Given the description of an element on the screen output the (x, y) to click on. 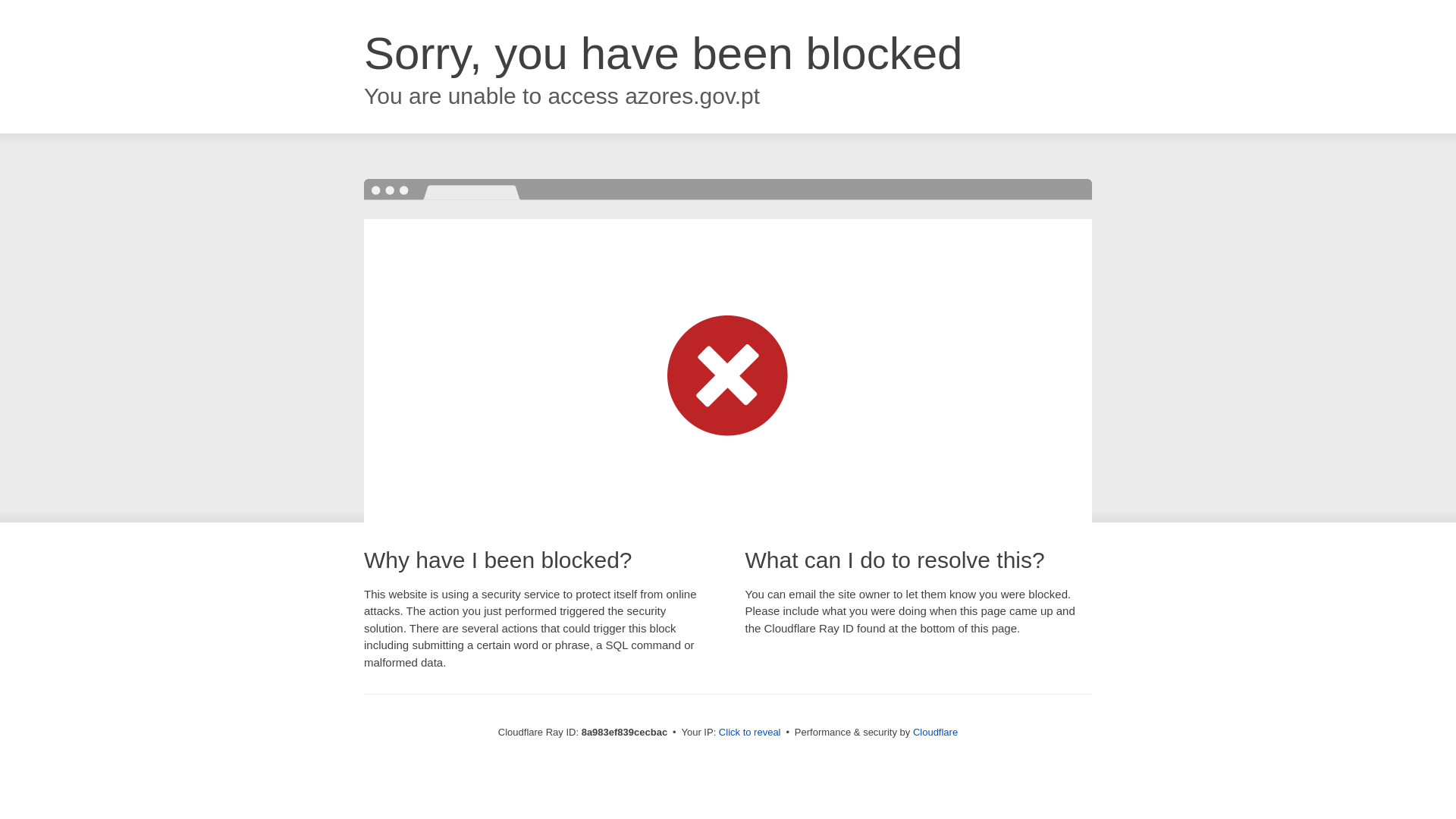
Click to reveal (749, 732)
Cloudflare (935, 731)
